Given the description of an element on the screen output the (x, y) to click on. 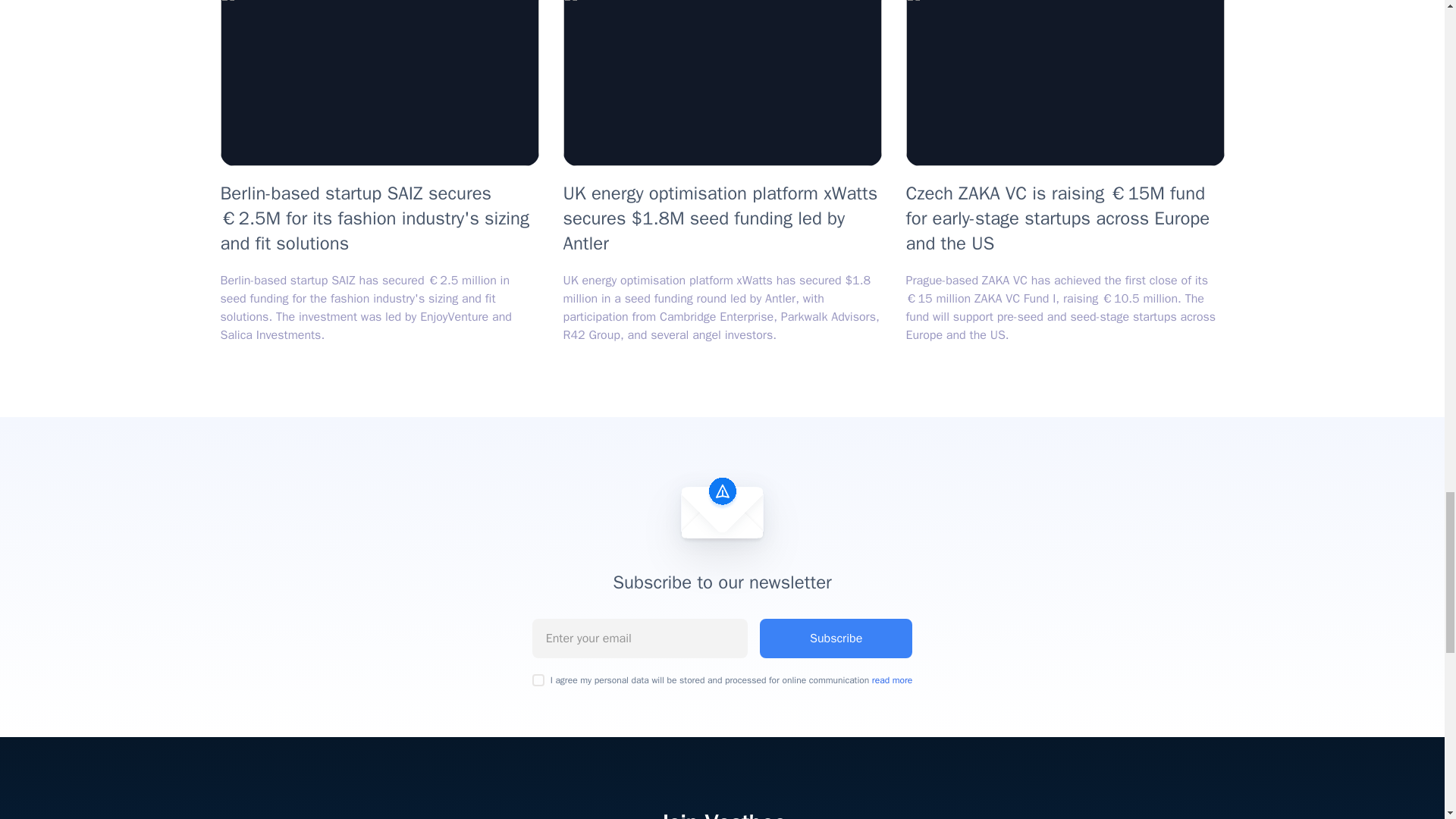
on (538, 680)
